Given the description of an element on the screen output the (x, y) to click on. 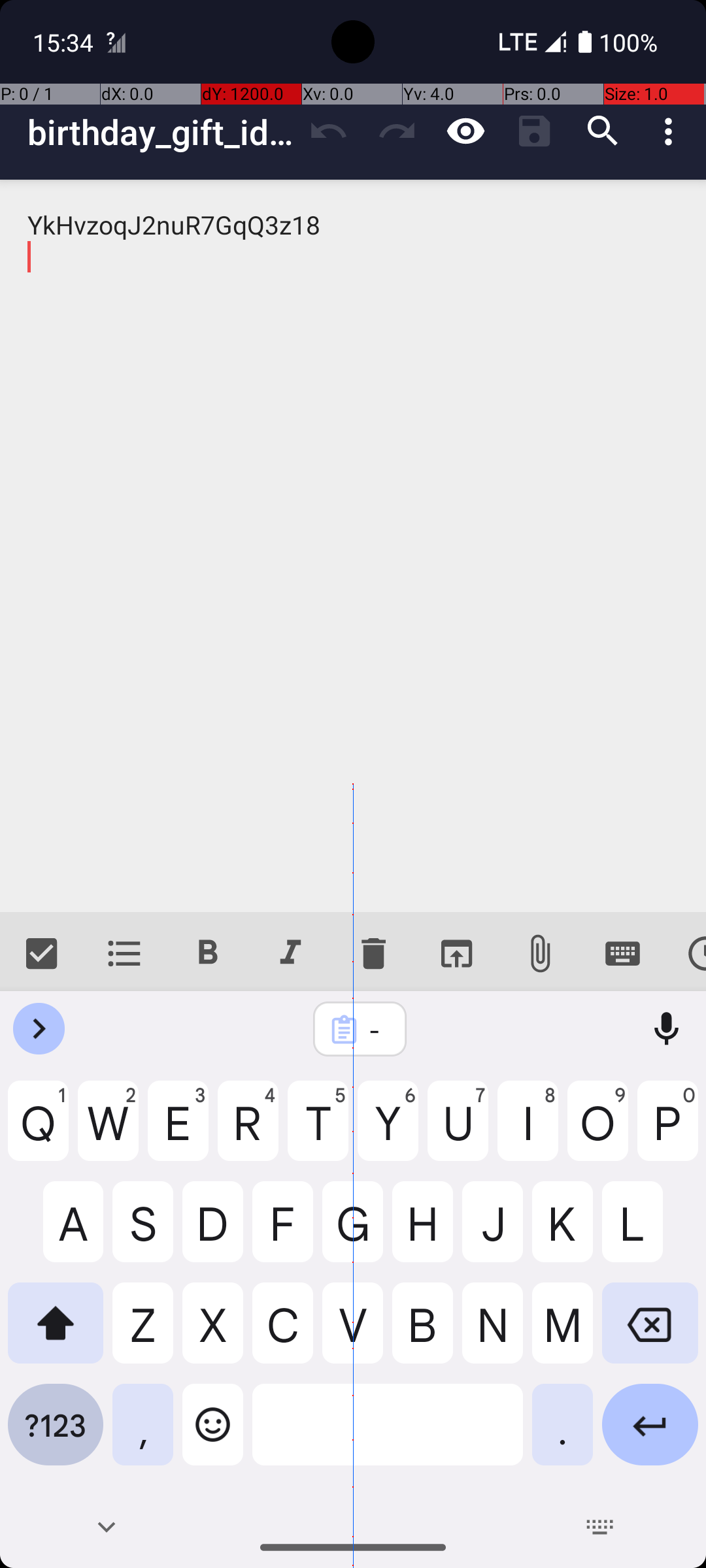
birthday_gift_ideas_mom_final Element type: android.widget.TextView (160, 131)
YkHvzoqJ2nuR7GqQ3z18
 Element type: android.widget.EditText (353, 545)
-  Element type: android.widget.TextView (376, 1029)
